Given the description of an element on the screen output the (x, y) to click on. 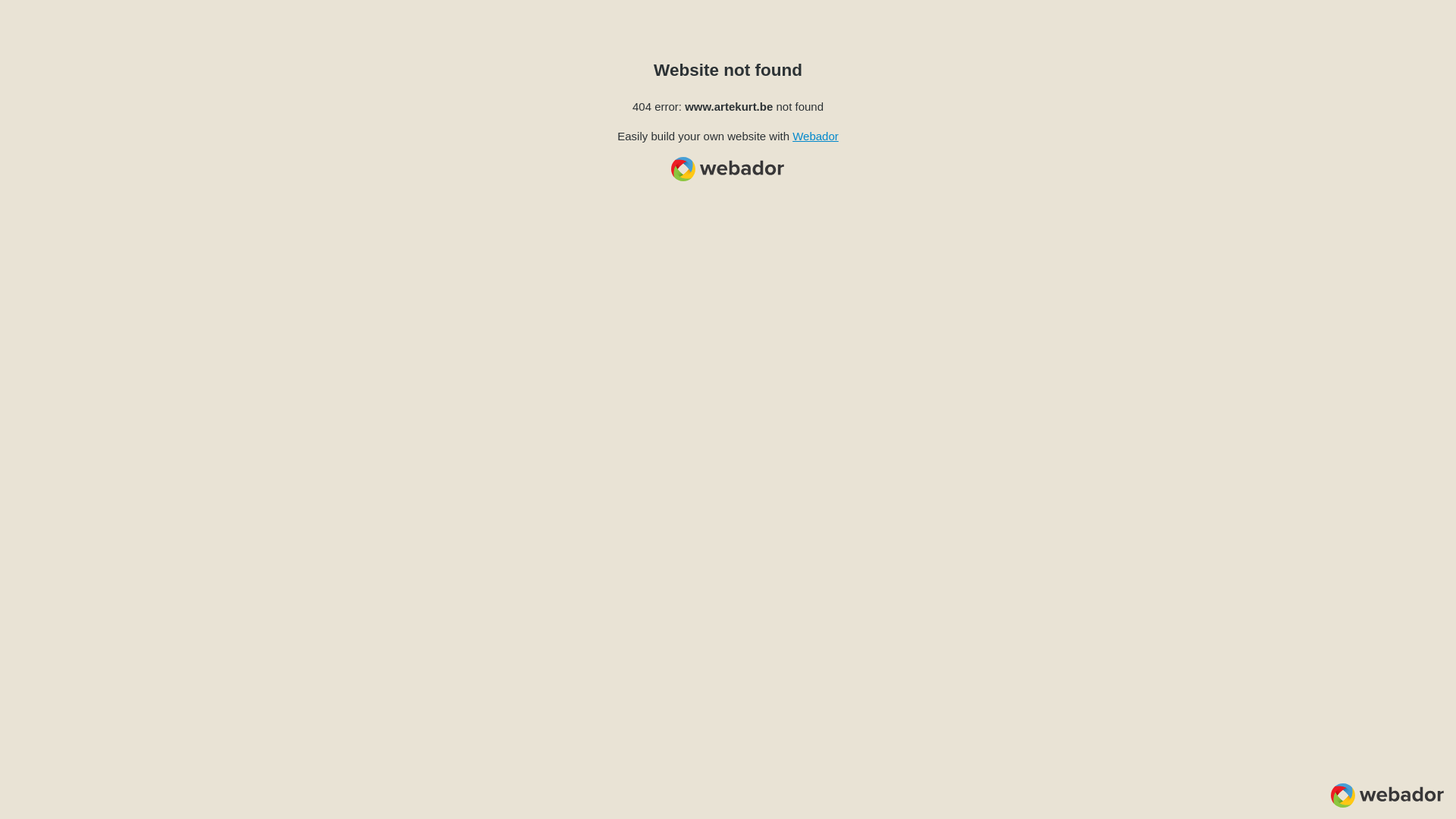
Webador Element type: text (815, 135)
